Given the description of an element on the screen output the (x, y) to click on. 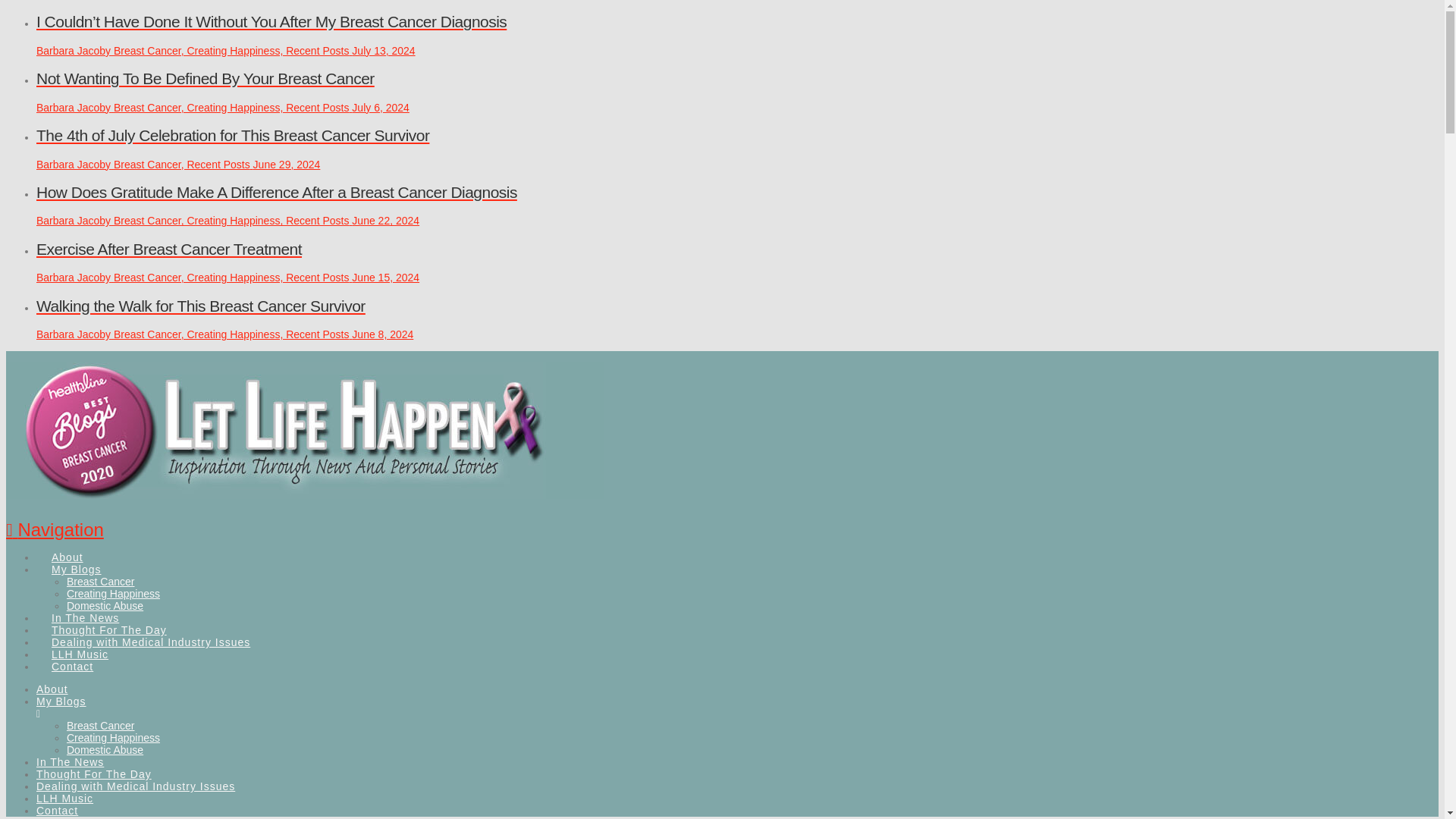
Domestic Abuse (104, 605)
About (52, 689)
LLH Music (79, 641)
In The News (69, 761)
Contact (71, 653)
Dealing with Medical Industry Issues (135, 786)
Navigation (54, 529)
Breast Cancer (99, 581)
My Blogs (76, 556)
About (66, 544)
Domestic Abuse (104, 749)
Thought For The Day (108, 617)
My Blogs (475, 707)
Creating Happiness (113, 593)
Thought For The Day (93, 774)
